Given the description of an element on the screen output the (x, y) to click on. 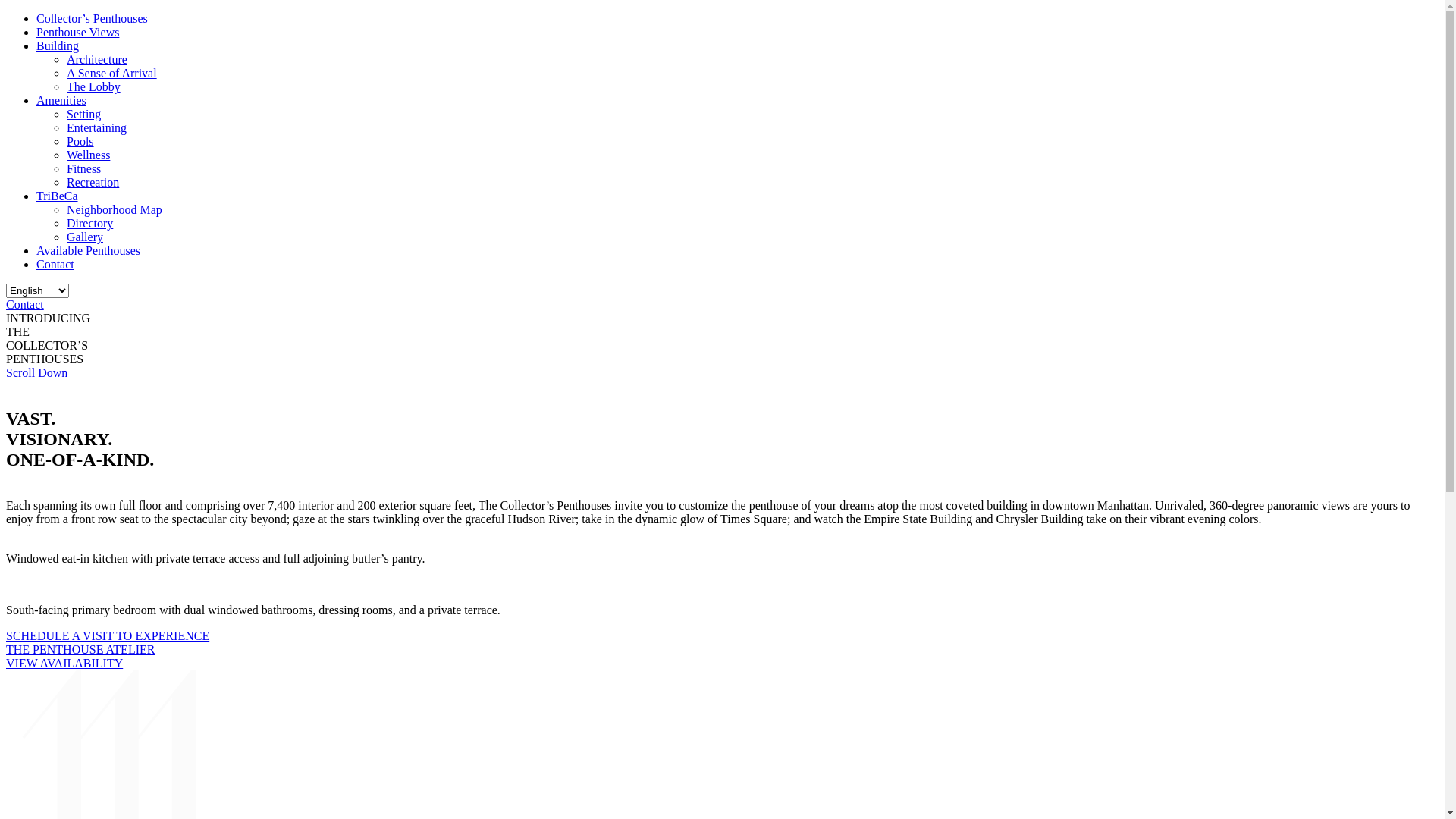
Contact Element type: text (55, 263)
Fitness Element type: text (83, 168)
Gallery Element type: text (84, 236)
Building Element type: text (57, 45)
TriBeCa Element type: text (57, 195)
A Sense of Arrival Element type: text (111, 72)
Setting Element type: text (83, 113)
Wellness Element type: text (87, 154)
Neighborhood Map Element type: text (114, 209)
The Lobby Element type: text (93, 86)
SCHEDULE A VISIT TO EXPERIENCE
THE PENTHOUSE ATELIER Element type: text (107, 642)
Scroll Down Element type: text (36, 372)
Penthouse Views Element type: text (77, 31)
Amenities Element type: text (61, 100)
Available Penthouses Element type: text (88, 250)
Entertaining Element type: text (96, 127)
Directory Element type: text (89, 222)
Pools Element type: text (80, 140)
Recreation Element type: text (92, 181)
VIEW AVAILABILITY Element type: text (64, 662)
Contact Element type: text (24, 304)
Architecture Element type: text (96, 59)
